Given the description of an element on the screen output the (x, y) to click on. 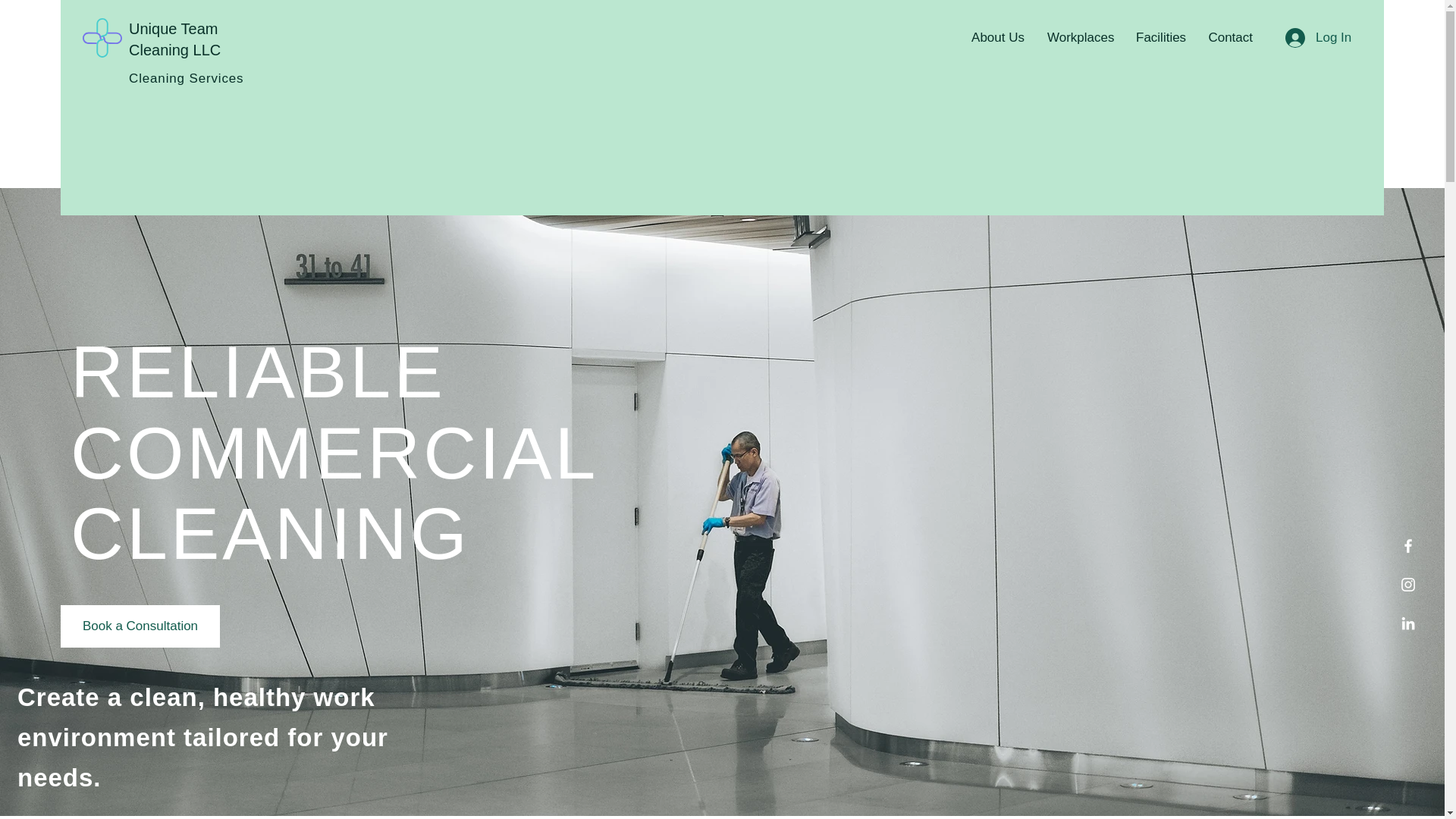
About Us (997, 37)
Contact (1229, 37)
Log In (1318, 37)
Cleaning Services (186, 78)
Workplaces (1079, 37)
Book a Consultation (140, 626)
Facilities (1159, 37)
